Given the description of an element on the screen output the (x, y) to click on. 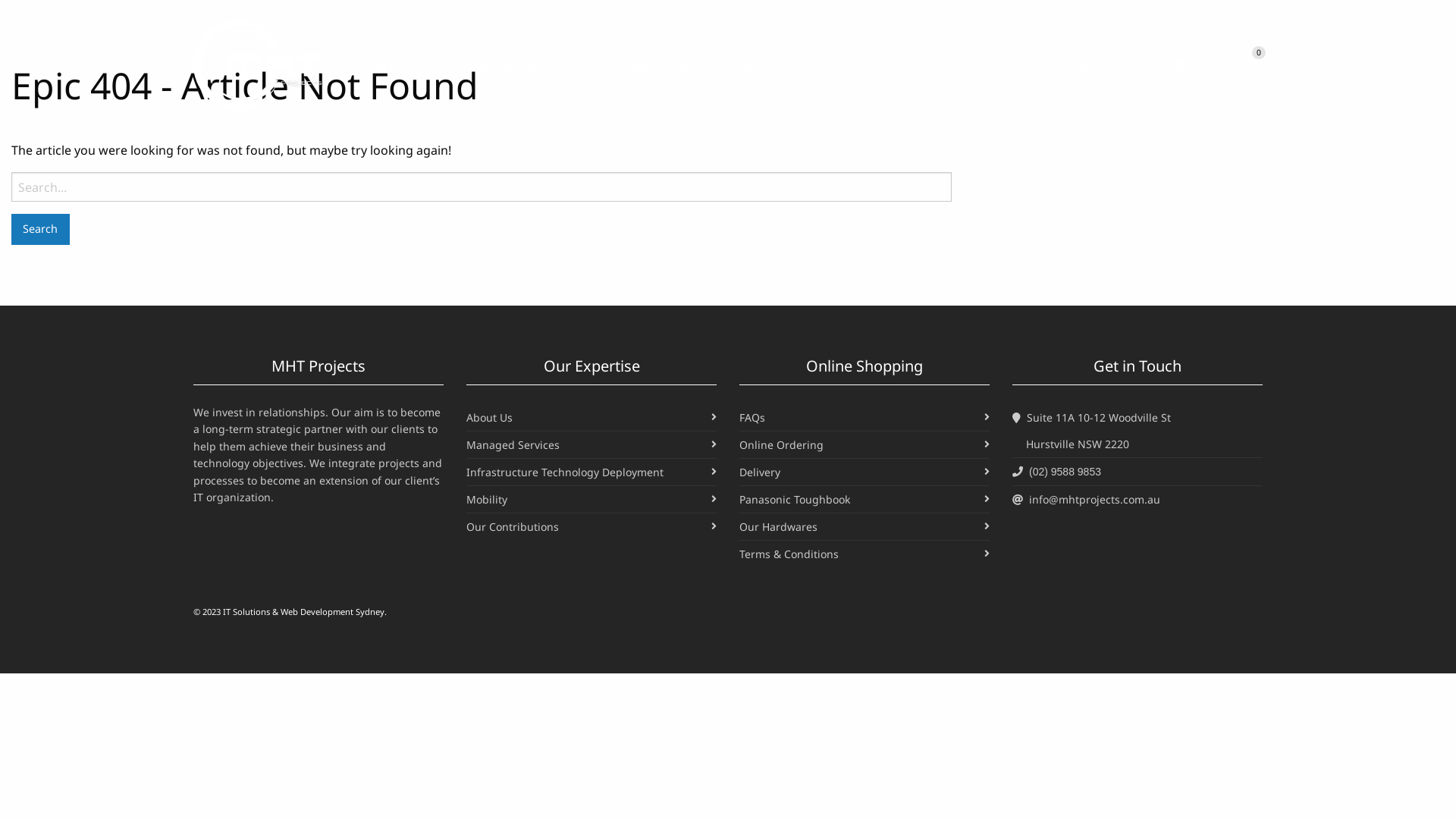
Online Ordering Element type: text (781, 444)
FAQs Element type: text (752, 417)
(02) 9588 9853 Element type: text (1120, 65)
IT Services Element type: text (386, 64)
Contact Us Element type: text (756, 64)
Search for: Element type: hover (481, 186)
Panasonic Toughbook Element type: text (794, 499)
Search Element type: text (40, 228)
Managed Services Element type: text (512, 444)
Panasonic Toughbook Element type: text (517, 64)
Online Shop Element type: text (652, 64)
About Us Element type: text (489, 417)
Delivery Element type: text (759, 471)
Mobility Element type: text (486, 499)
Terms & Conditions Element type: text (788, 553)
Our Contributions Element type: text (512, 526)
Our Hardwares Element type: text (778, 526)
0 Element type: text (1249, 64)
Infrastructure Technology Deployment Element type: text (564, 471)
